Given the description of an element on the screen output the (x, y) to click on. 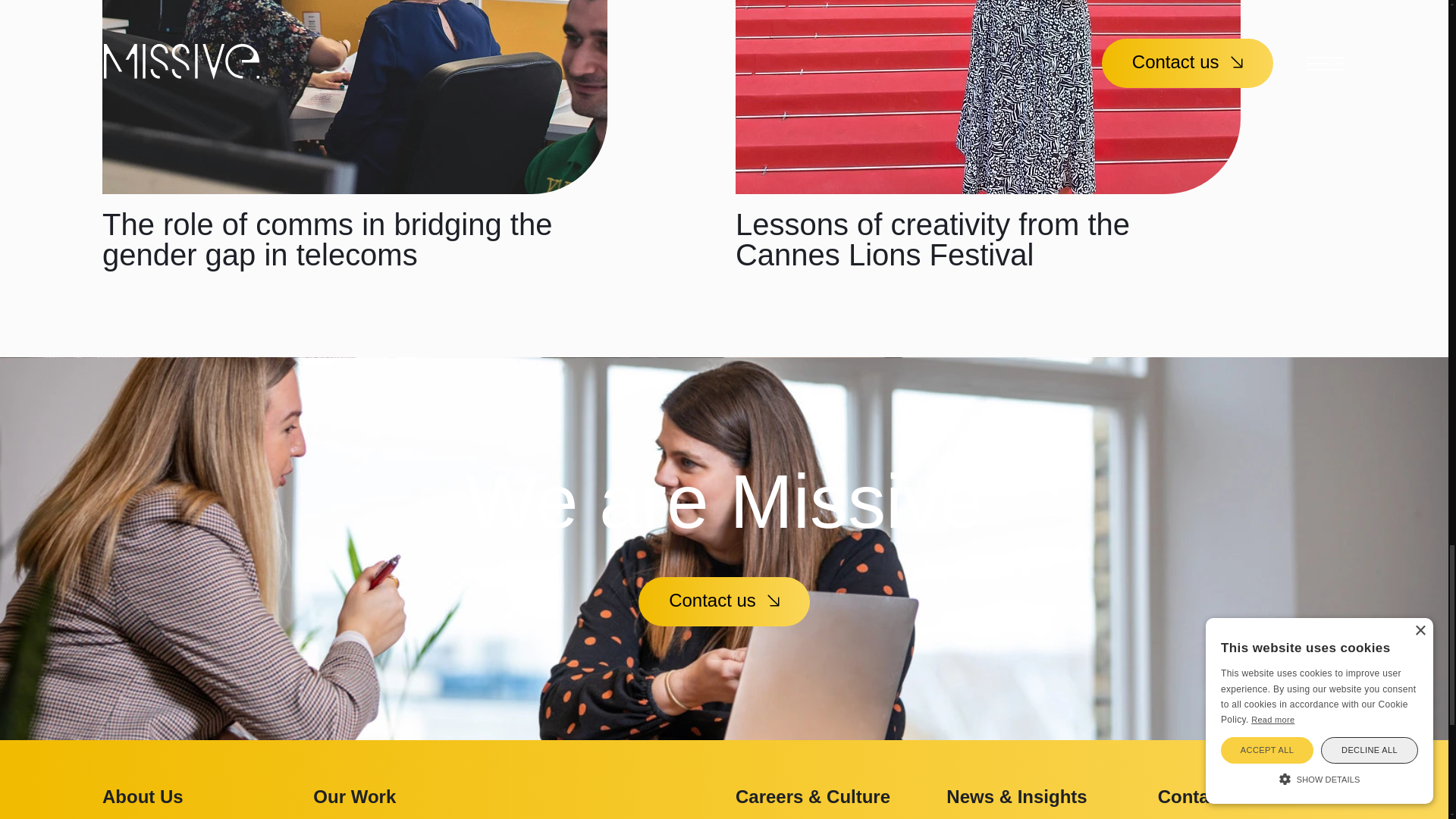
Lessons of creativity from the Cannes Lions Festival (932, 239)
About Us (142, 796)
Contact us (724, 601)
Our Work (354, 796)
Client Work (567, 818)
Who We Are (148, 818)
What We Do (360, 818)
The role of comms in bridging the gender gap in telecoms (326, 239)
